Given the description of an element on the screen output the (x, y) to click on. 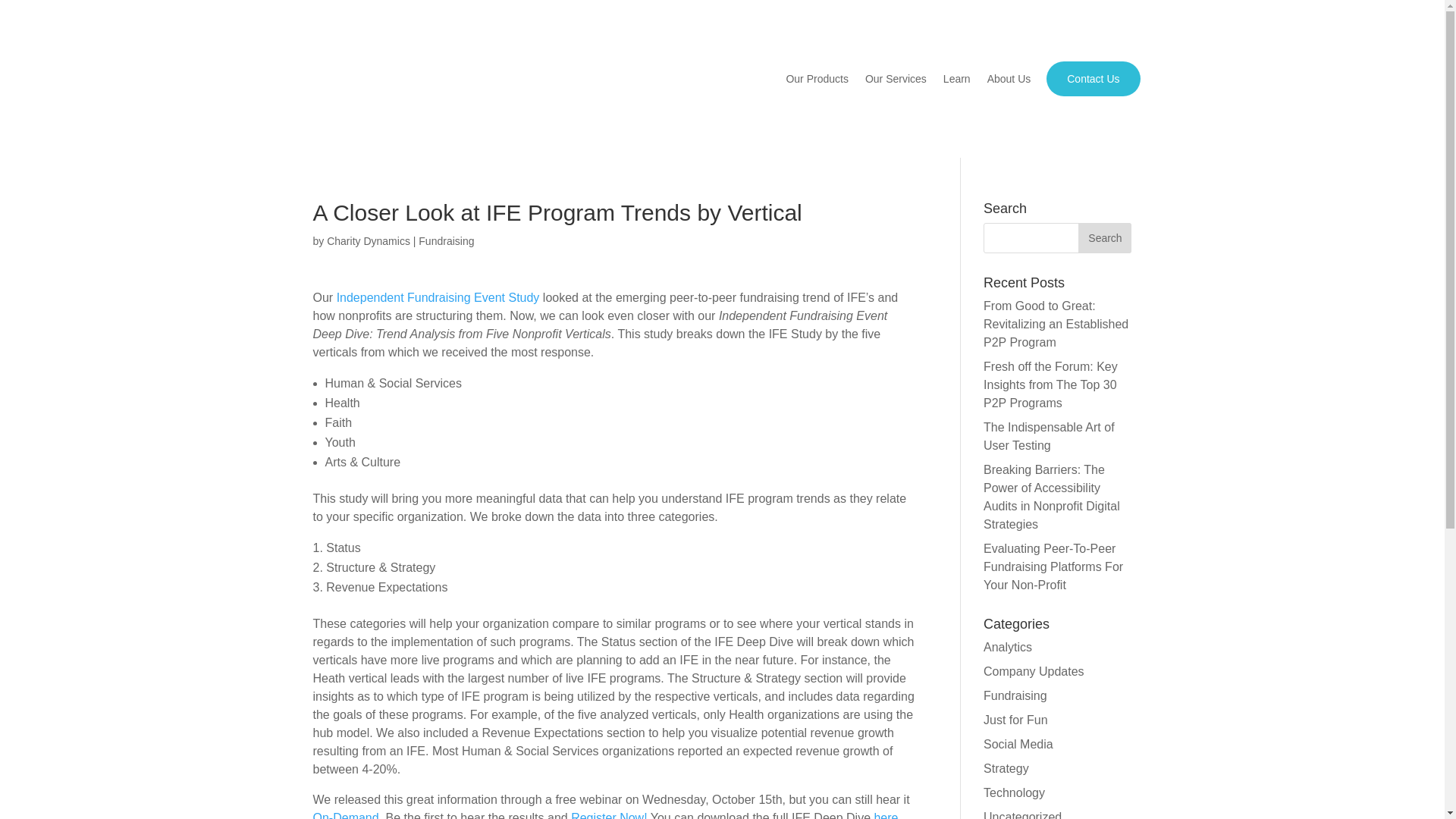
The Indispensable Art of User Testing (1049, 436)
Fundraising (1015, 695)
Register Now! (608, 815)
Contact Us (1092, 78)
From Good to Great: Revitalizing an Established P2P Program (1056, 323)
Social Media (1018, 744)
Our Services (895, 78)
Uncategorized (1022, 814)
About Us (1008, 78)
Independent Fundraising Event Study (438, 297)
